Given the description of an element on the screen output the (x, y) to click on. 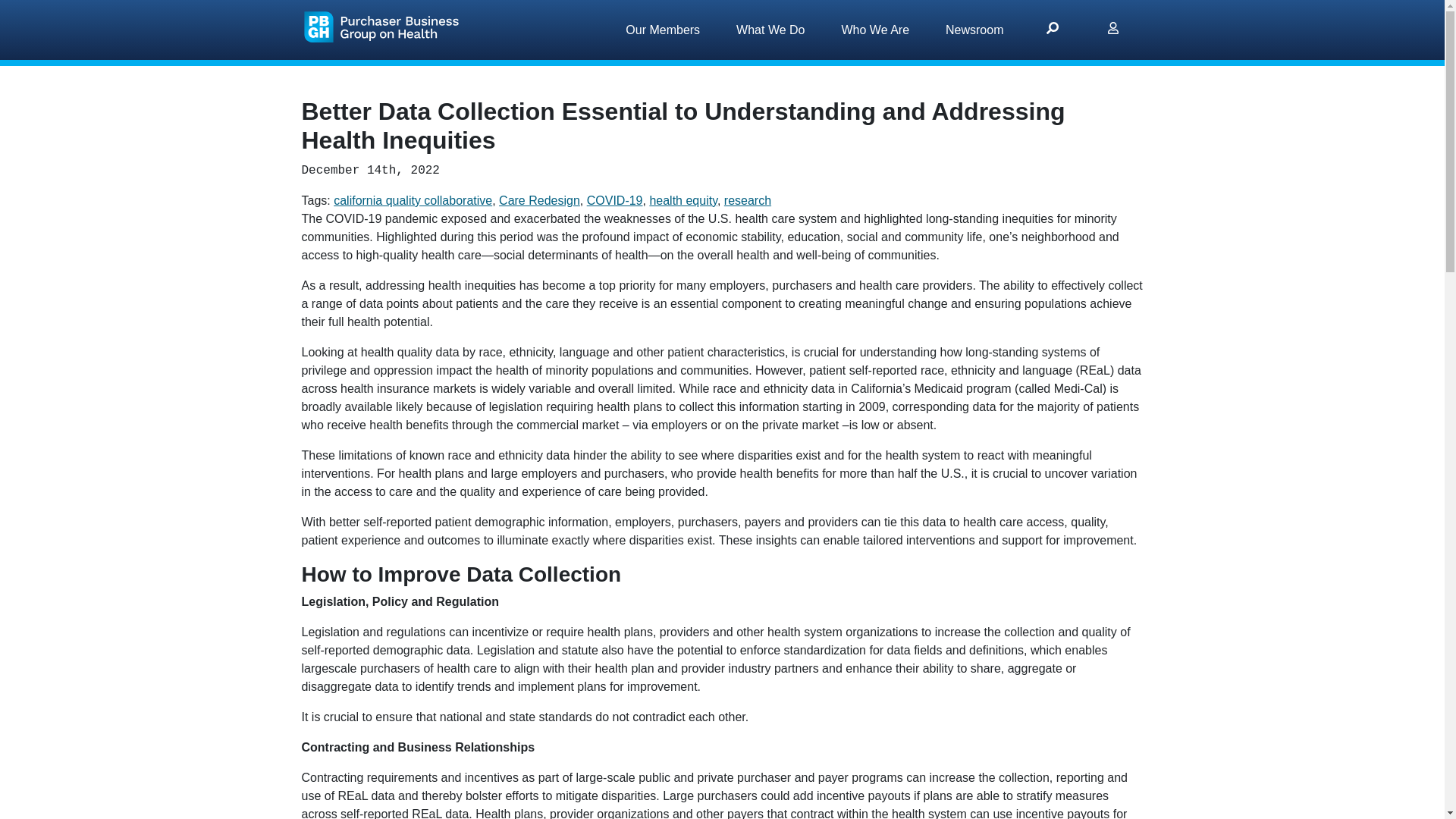
Care Redesign (539, 200)
california quality collaborative (412, 200)
Our Members (662, 30)
Visit Member Site (1112, 30)
PBGH (383, 26)
Search PBGH.org (1052, 30)
Newsroom (974, 30)
Who We Are (876, 30)
What We Do (769, 30)
COVID-19 (614, 200)
